Given the description of an element on the screen output the (x, y) to click on. 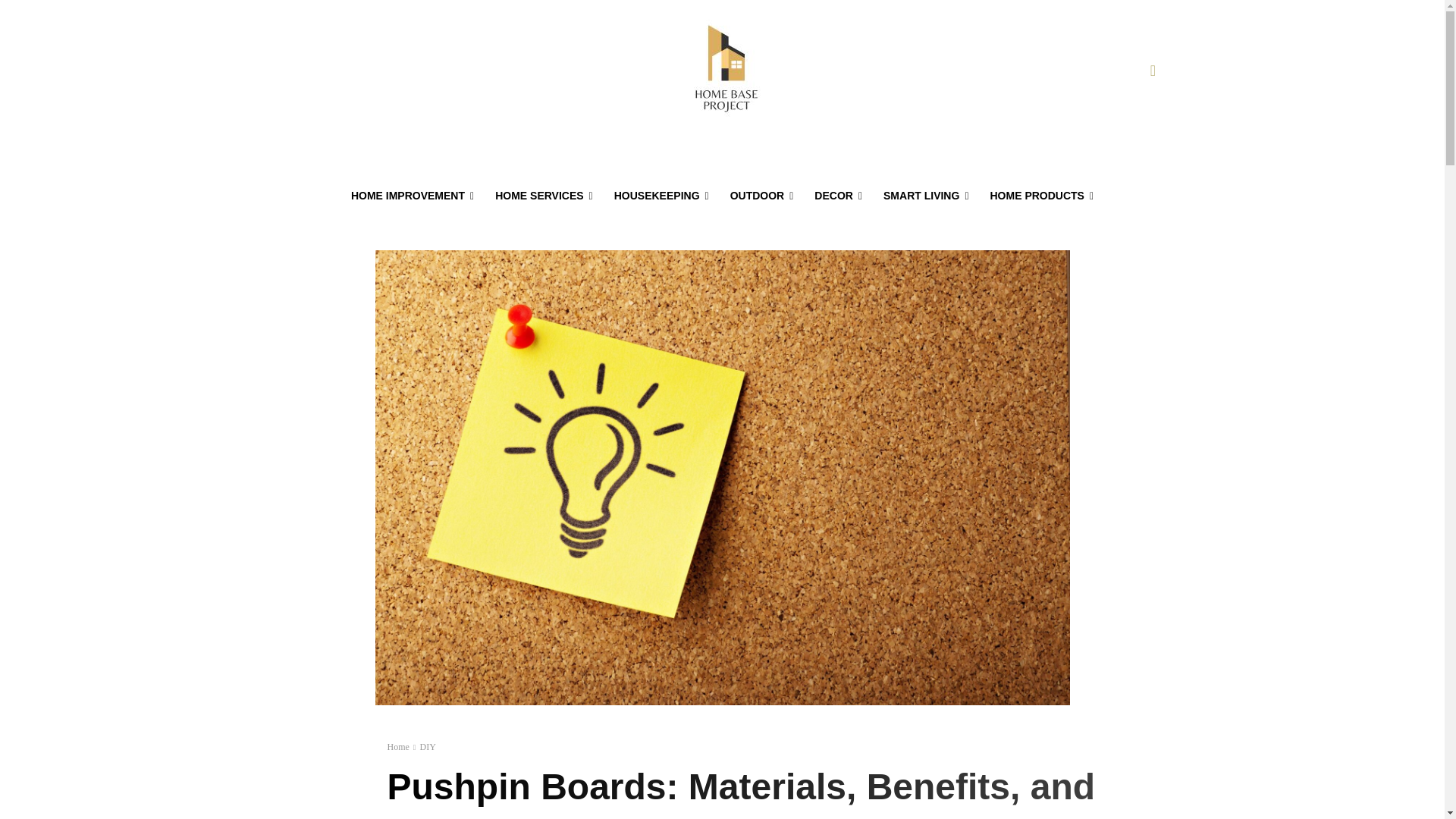
View all posts in DIY (427, 747)
Home Base Project (725, 70)
Home Base Project (725, 70)
